Given the description of an element on the screen output the (x, y) to click on. 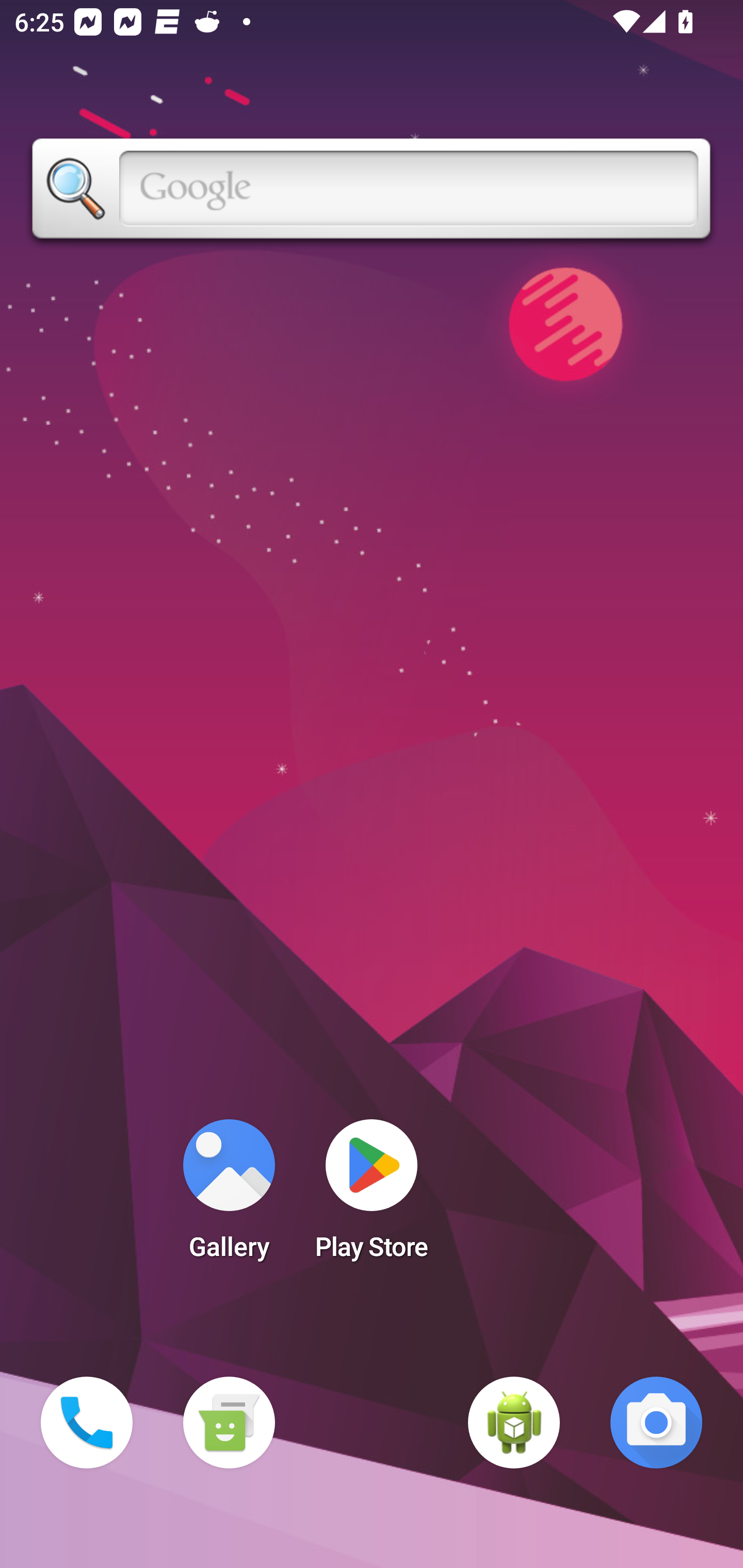
Gallery (228, 1195)
Play Store (371, 1195)
Phone (86, 1422)
Messaging (228, 1422)
WebView Browser Tester (513, 1422)
Camera (656, 1422)
